Given the description of an element on the screen output the (x, y) to click on. 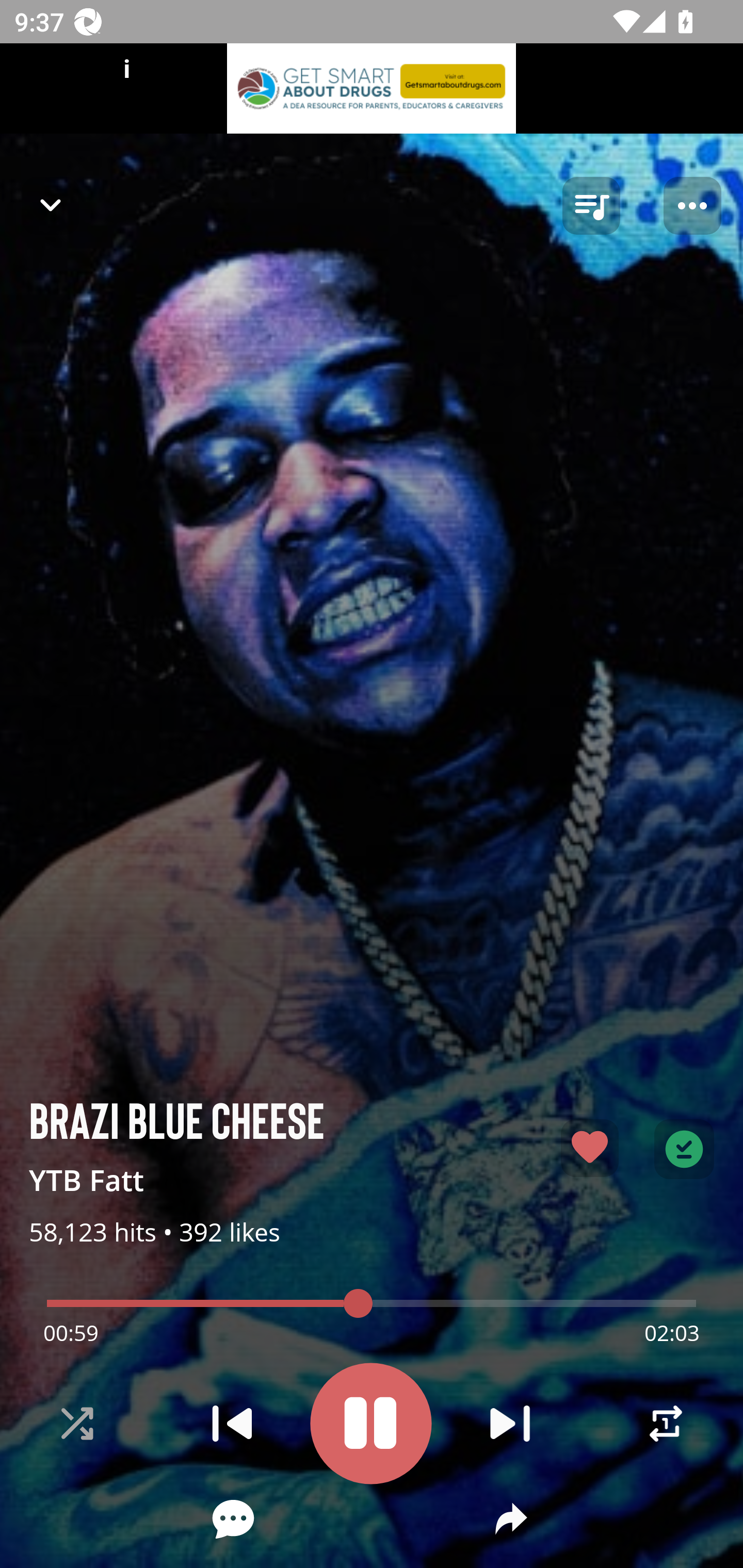
Navigate up (50, 205)
queue (590, 206)
Player options (692, 206)
